Given the description of an element on the screen output the (x, y) to click on. 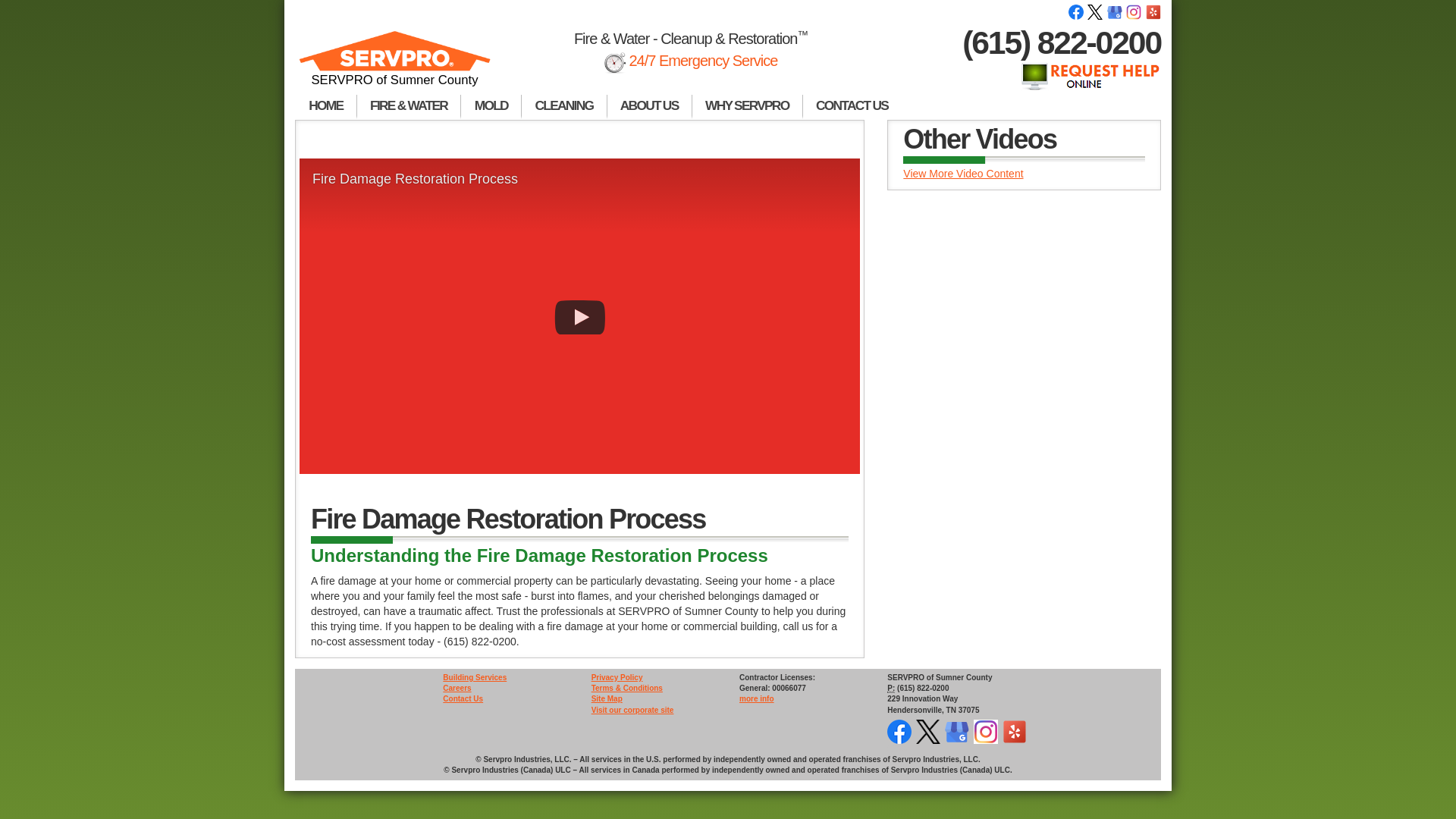
CLEANING (564, 106)
MOLD (491, 106)
SERVPRO of Sumner County (395, 64)
HOME (325, 106)
ABOUT US (649, 106)
